Given the description of an element on the screen output the (x, y) to click on. 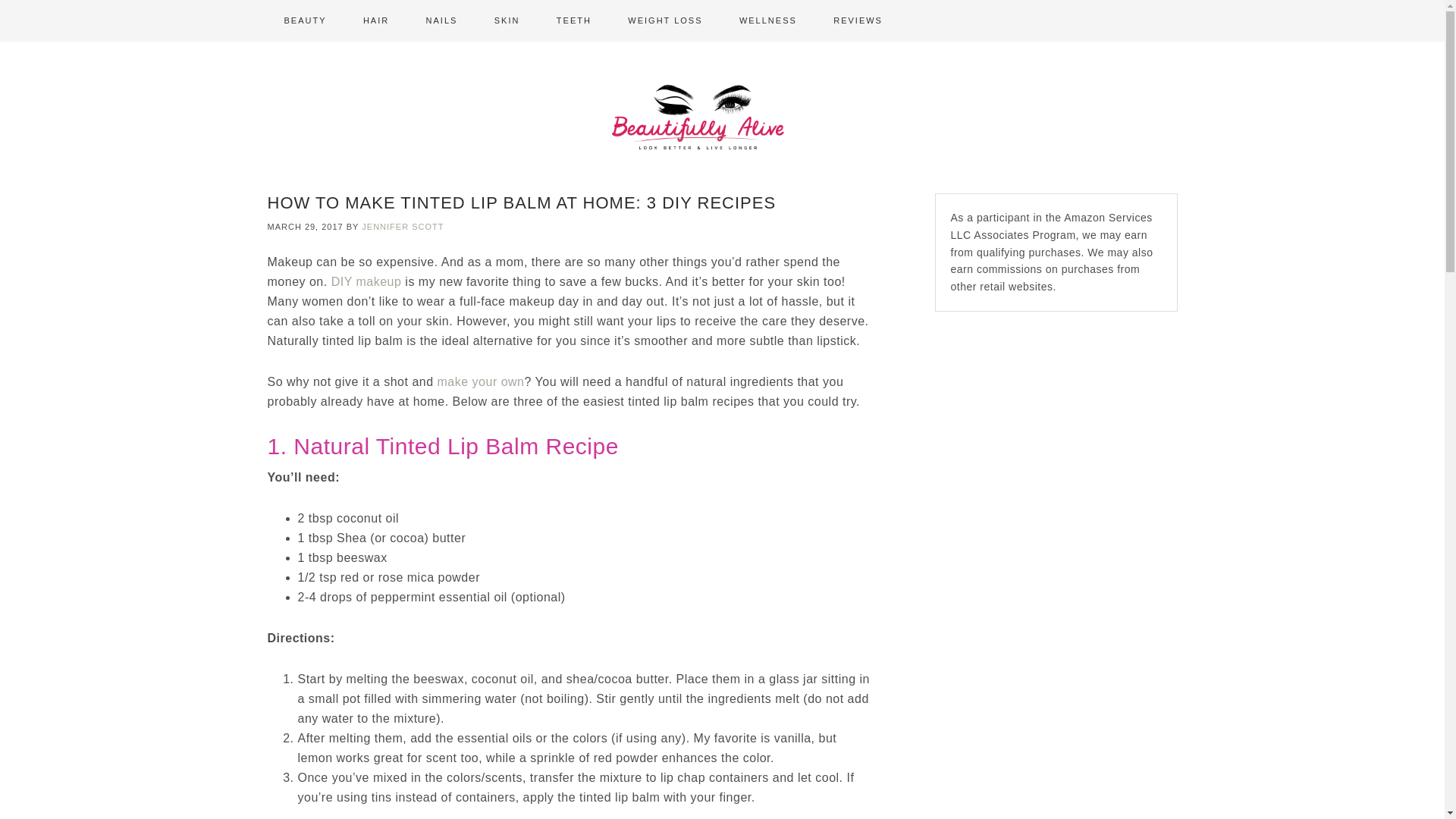
TEETH (574, 20)
HAIR (376, 20)
BEAUTY (304, 20)
SKIN (507, 20)
NAILS (441, 20)
WELLNESS (767, 20)
REVIEWS (857, 20)
WEIGHT LOSS (665, 20)
